Given the description of an element on the screen output the (x, y) to click on. 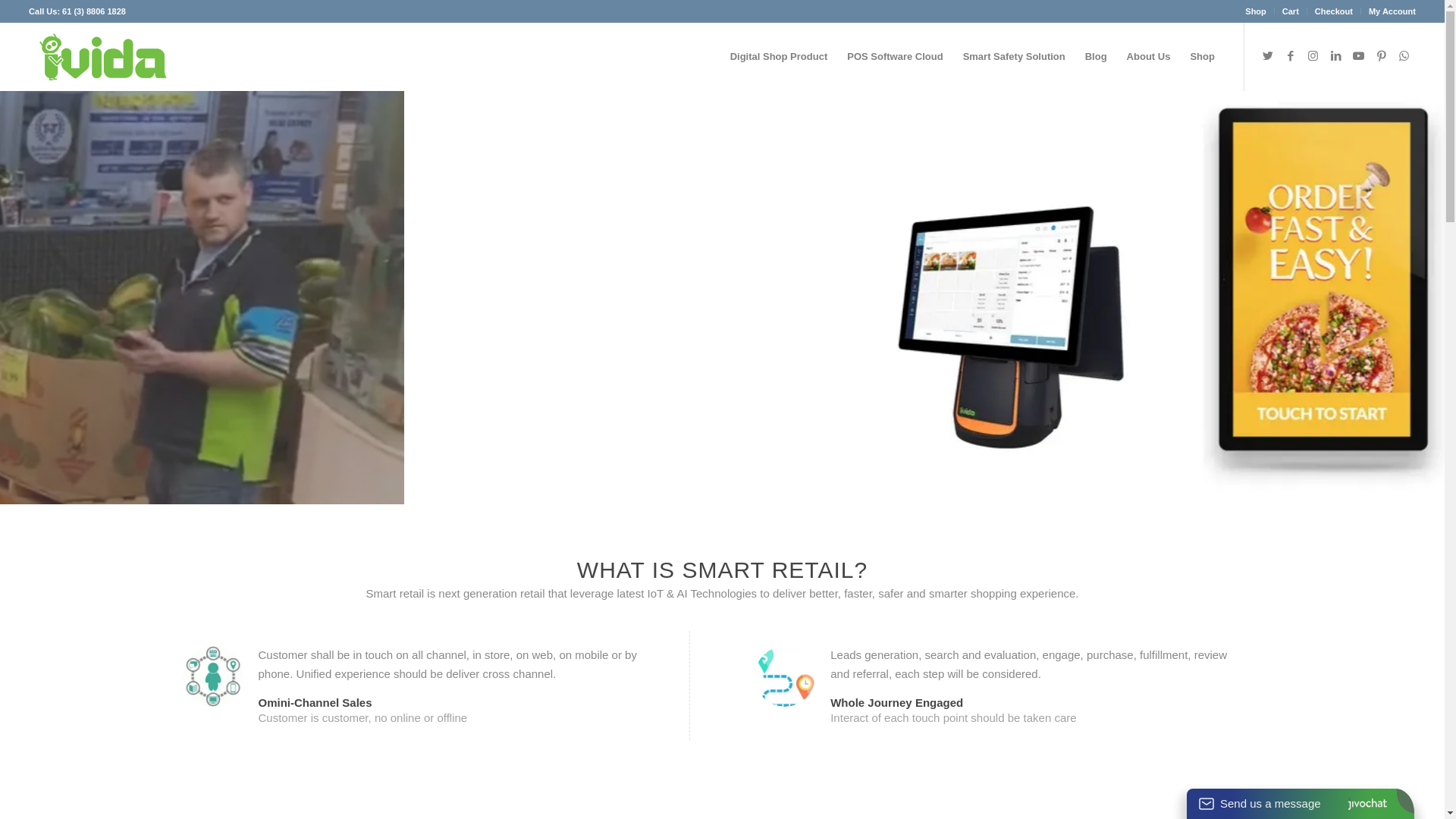
Instagram Element type: hover (1313, 55)
CLICK FOR DETAIL Element type: text (721, 340)
Shop Element type: text (1201, 56)
Pinterest Element type: hover (1381, 55)
WhatsApp Element type: hover (1404, 55)
POS Software Cloud Element type: text (894, 56)
Cart Element type: text (1290, 11)
Youtube Element type: hover (1358, 55)
340-156 Element type: hover (102, 56)
Shop Element type: text (1255, 11)
My Account Element type: text (1391, 11)
Twitter Element type: hover (1267, 55)
About Us Element type: text (1148, 56)
Digital Shop Product Element type: text (778, 56)
LinkedIn Element type: hover (1335, 55)
Smart Safety Solution Element type: text (1014, 56)
Facebook Element type: hover (1290, 55)
Checkout Element type: text (1333, 11)
Blog Element type: text (1096, 56)
